Given the description of an element on the screen output the (x, y) to click on. 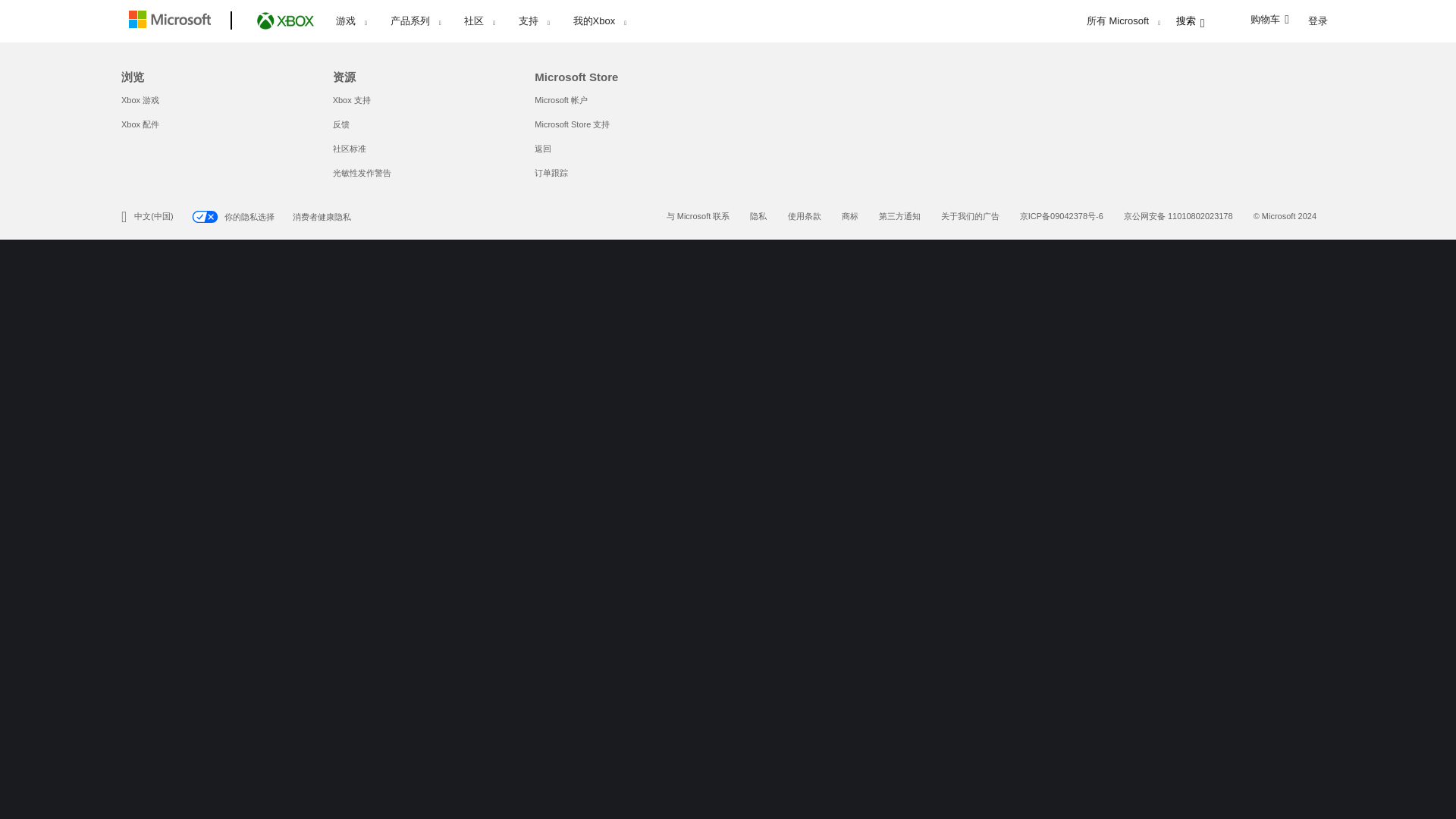
Microsoft (172, 20)
